Given the description of an element on the screen output the (x, y) to click on. 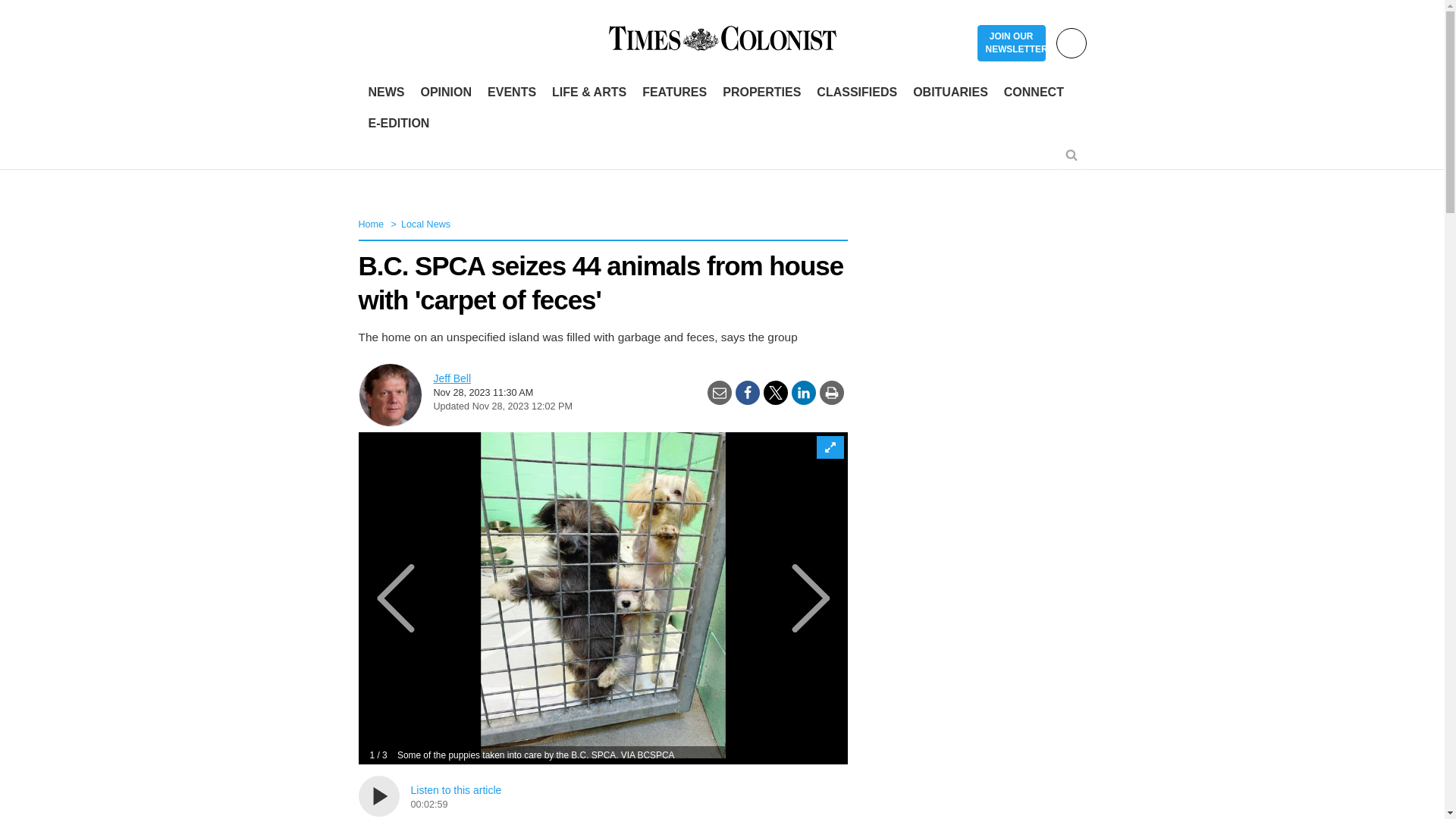
JOIN OUR NEWSLETTER (1010, 43)
OPINION (445, 92)
NEWS (386, 92)
EVENTS (511, 92)
Expand (829, 446)
